Given the description of an element on the screen output the (x, y) to click on. 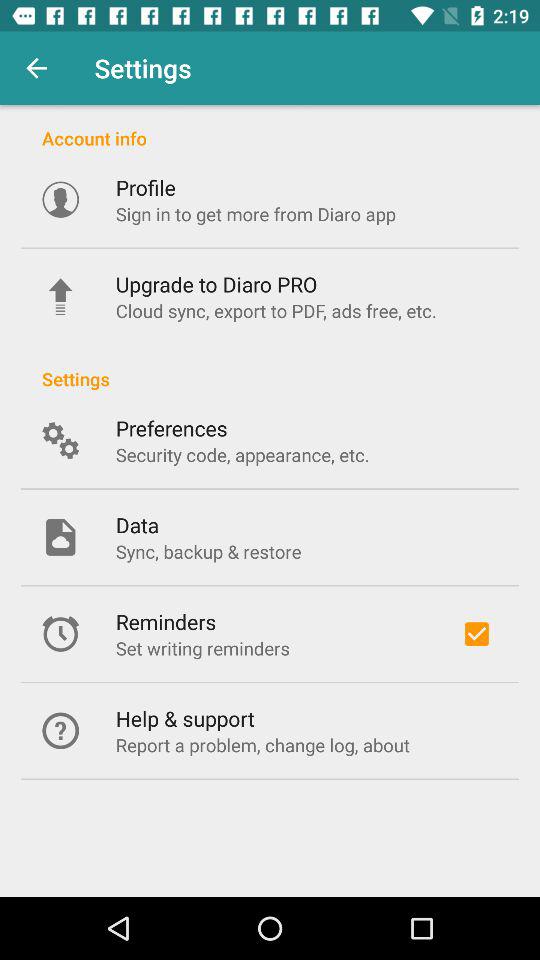
choose the icon on the right (476, 634)
